Given the description of an element on the screen output the (x, y) to click on. 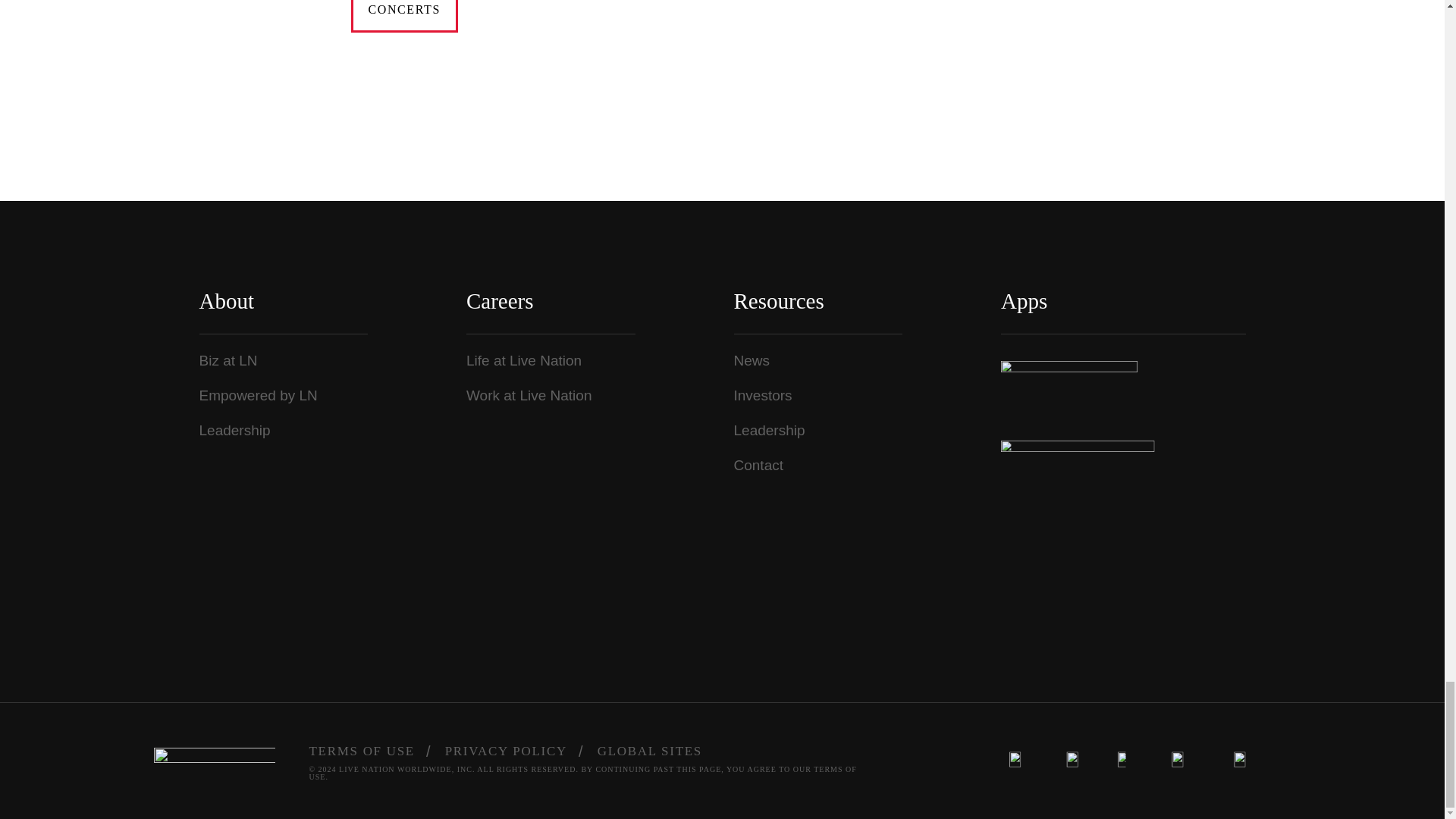
Biz at LN (227, 360)
Life at Live Nation (522, 360)
Leadership (233, 430)
News (751, 360)
Empowered by LN (257, 395)
CONCERTS (403, 15)
Work at Live Nation (528, 395)
Investors (762, 395)
